Given the description of an element on the screen output the (x, y) to click on. 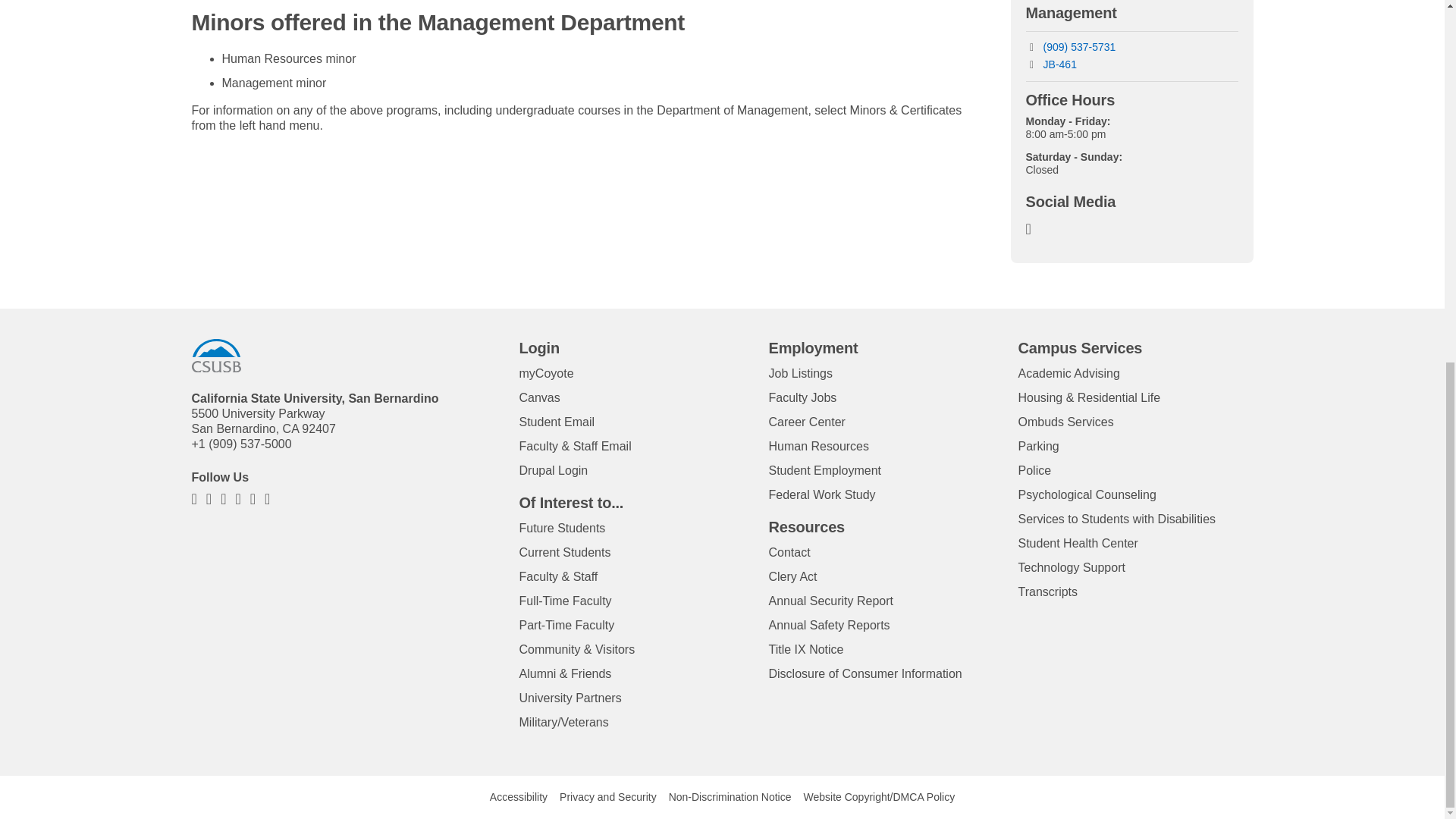
Directs to "Current Students" landing page (564, 552)
Directs to "Future Students" landing page (561, 527)
CSUSB (215, 355)
